Given the description of an element on the screen output the (x, y) to click on. 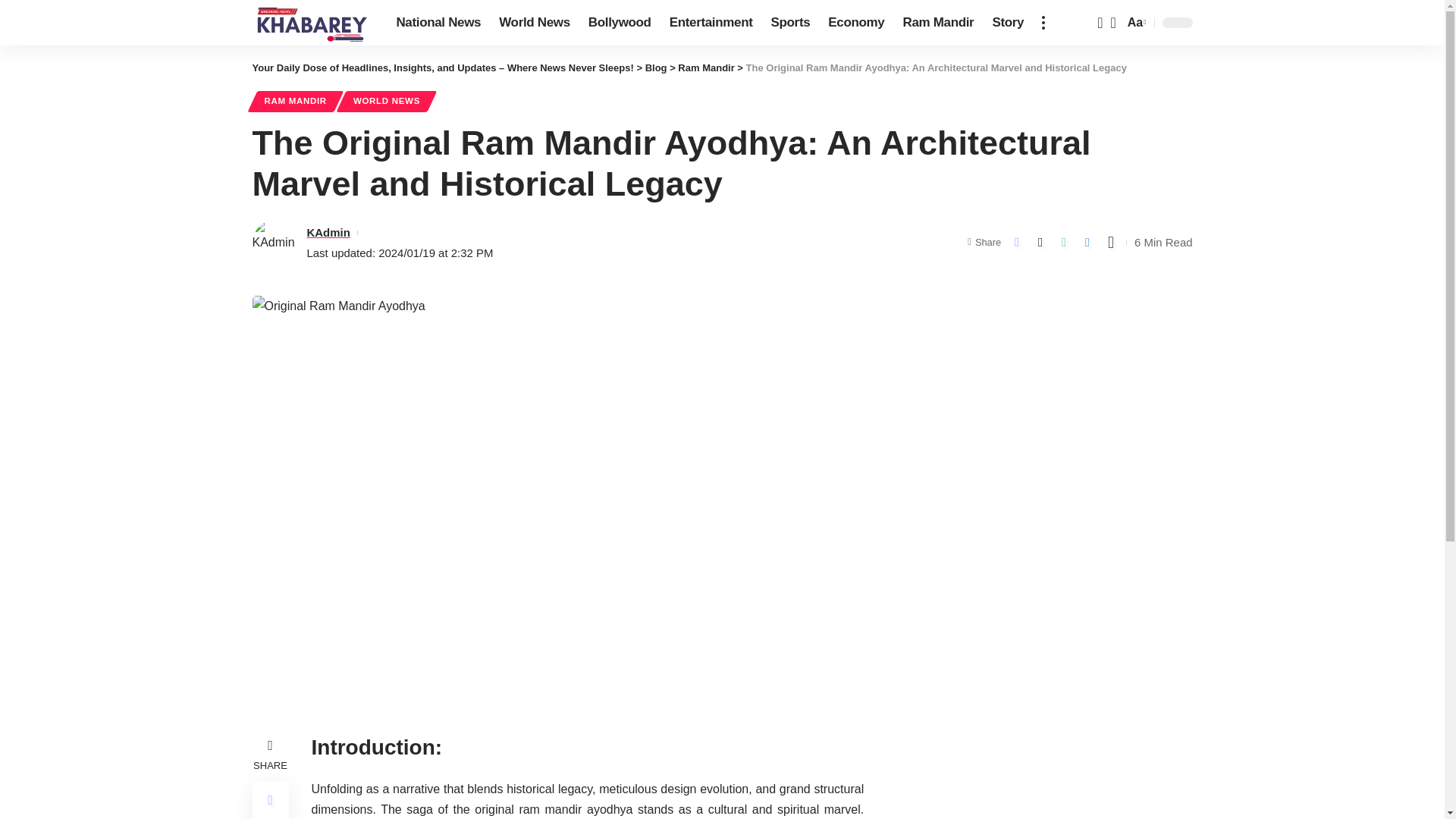
Go to Blog. (655, 67)
Bollywood (620, 22)
Go to the Ram Mandir Category archives. (705, 67)
Story (1007, 22)
National News (438, 22)
Ram Mandir (937, 22)
World News (534, 22)
Economy (1135, 22)
Entertainment (855, 22)
